Given the description of an element on the screen output the (x, y) to click on. 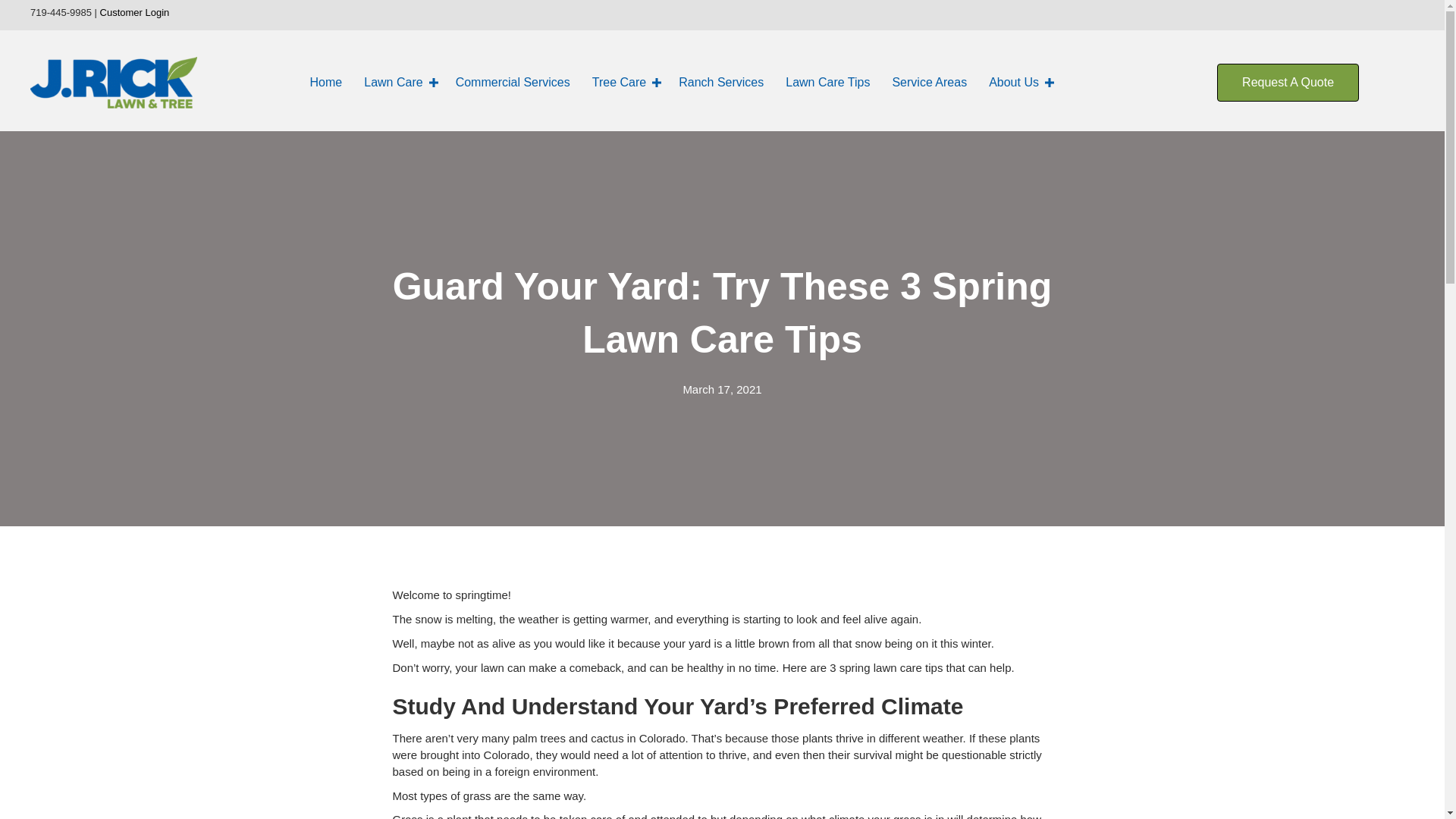
Request A Quote (1287, 82)
About Us (1018, 82)
J Rick Lawn - colorado springs lawn care (113, 82)
Customer Login (135, 12)
Home (326, 82)
Service Areas (928, 82)
Lawn Care Tips (827, 82)
Service Areas (928, 82)
Commercial Services (512, 82)
Tree Care (623, 82)
Lawn Care (398, 82)
Tree Care (623, 82)
Ranch Services (721, 82)
Lawn Care (398, 82)
Customer Portal (135, 12)
